Given the description of an element on the screen output the (x, y) to click on. 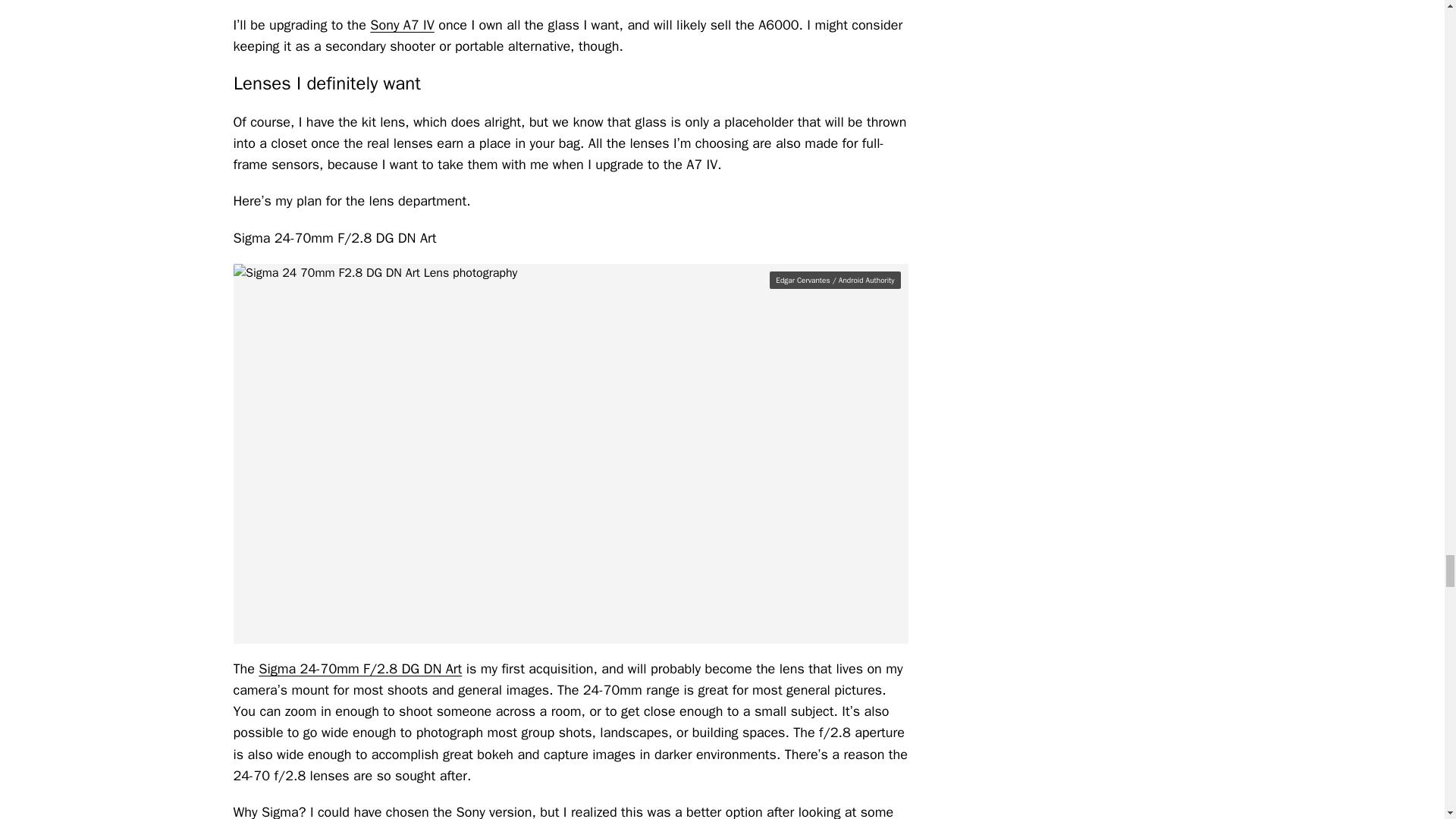
Sony A7 IV (401, 24)
